Given the description of an element on the screen output the (x, y) to click on. 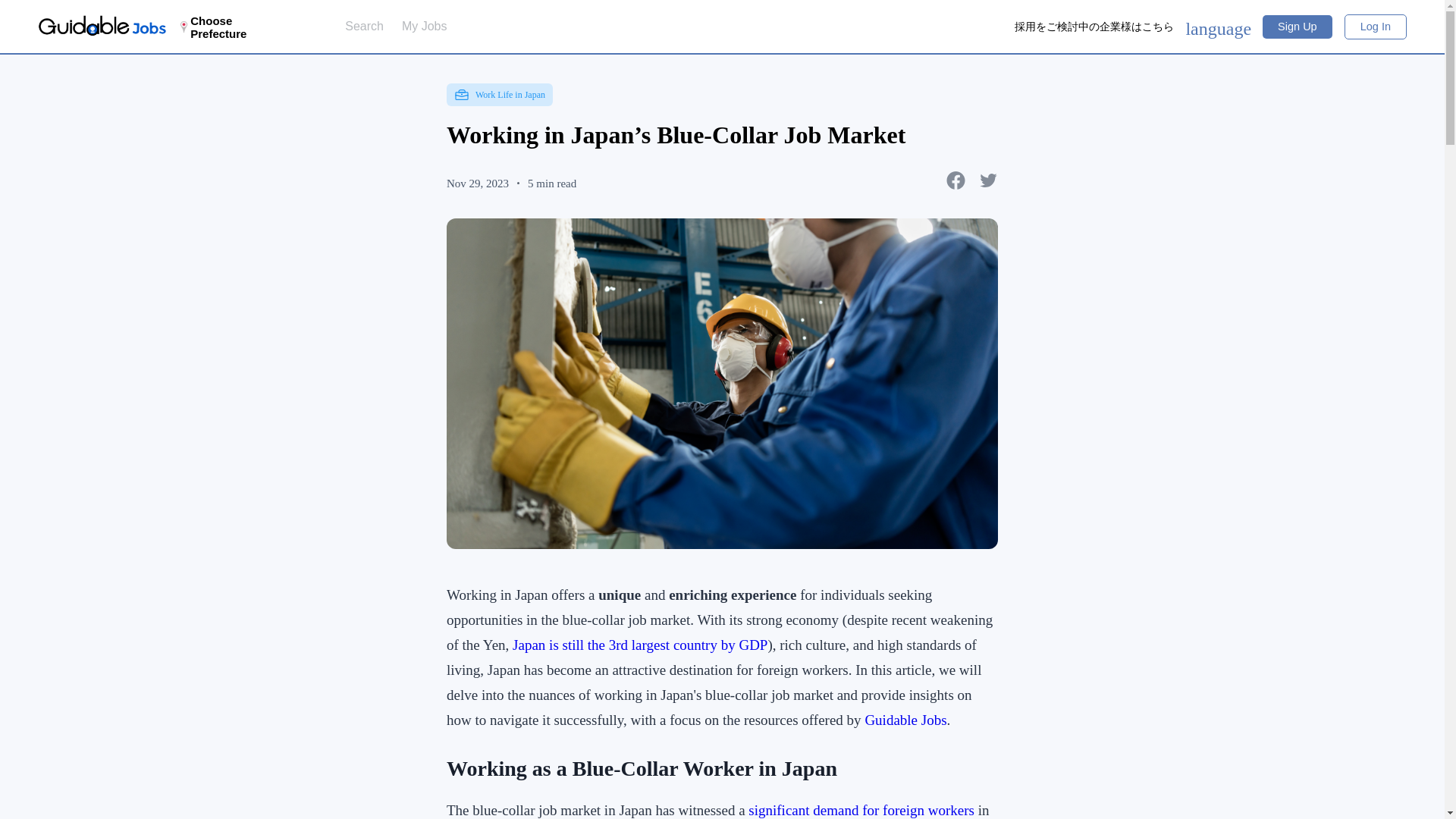
significant demand for foreign workers (861, 810)
Choose Prefecture (236, 27)
My Jobs (423, 26)
Work Life in Japan (499, 94)
Japan is still the 3rd largest country by GDP (639, 644)
Guidable Jobs (905, 719)
Log In (1374, 25)
Search (364, 26)
Sign Up (1297, 26)
